Given the description of an element on the screen output the (x, y) to click on. 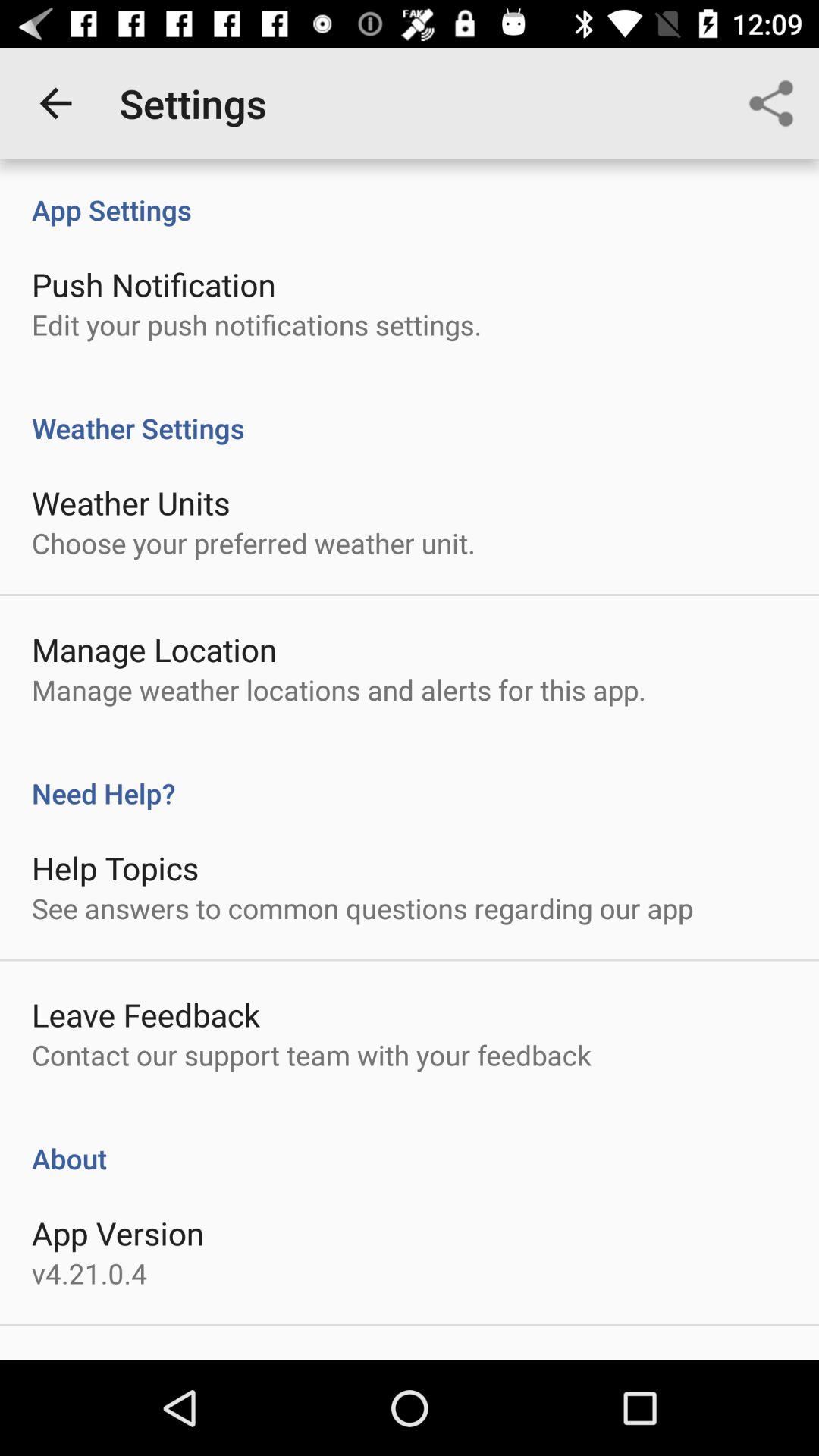
tap manage location item (153, 649)
